Given the description of an element on the screen output the (x, y) to click on. 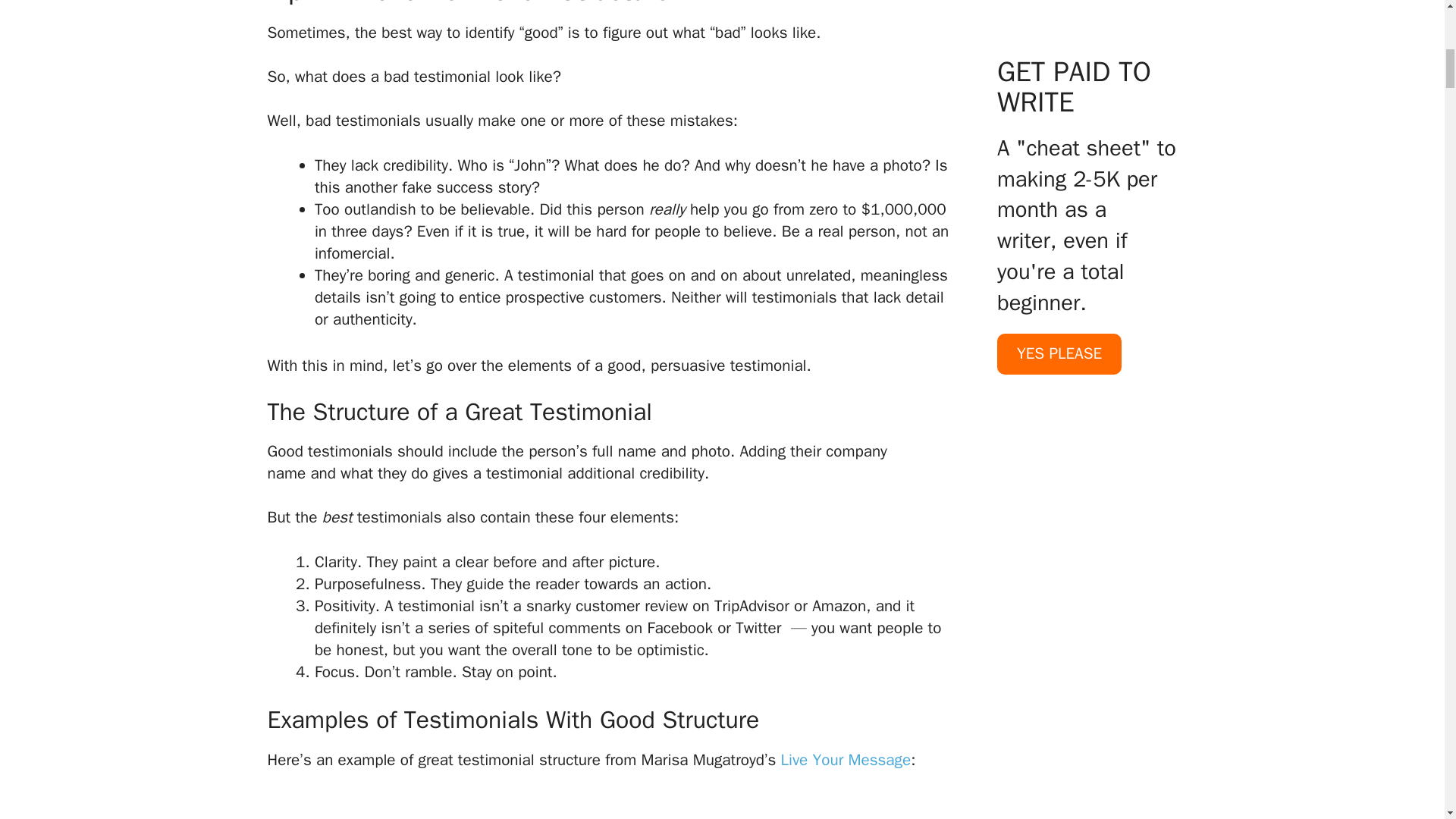
YES PLEASE (1059, 314)
Live Your Message (845, 759)
